Given the description of an element on the screen output the (x, y) to click on. 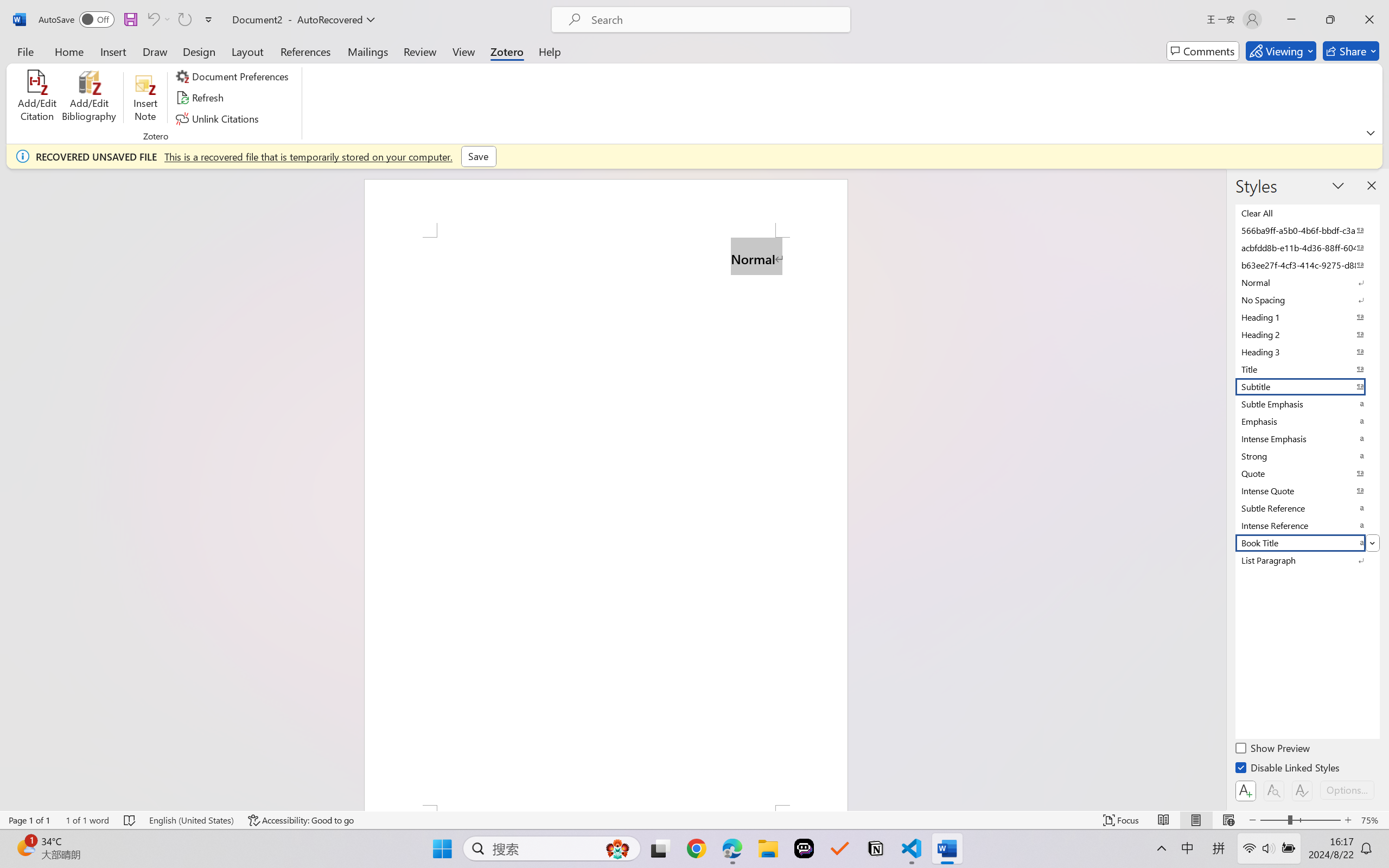
Document Preferences (233, 75)
566ba9ff-a5b0-4b6f-bbdf-c3ab41993fc2 (1306, 230)
Disable Linked Styles (1287, 769)
Can't Undo (158, 19)
